Given the description of an element on the screen output the (x, y) to click on. 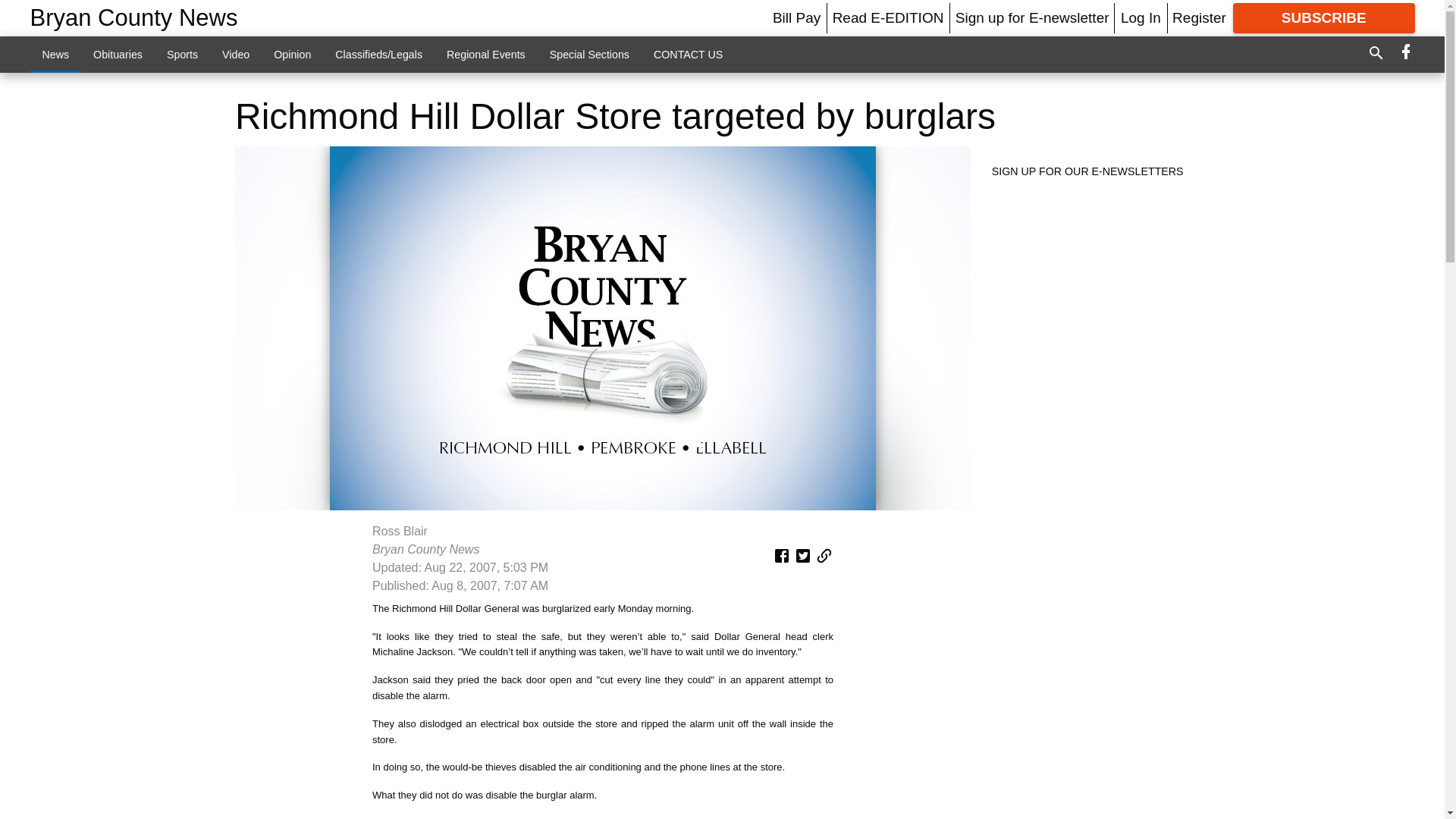
Log In (1140, 17)
Special Sections (589, 54)
Signup Widget Embed (1095, 305)
CONTACT US (688, 54)
Opinion (292, 54)
Register (1198, 17)
News (55, 54)
Sign up for E-newsletter (1032, 17)
Obituaries (117, 54)
Sports (181, 54)
Bryan County News (134, 17)
Bill Pay (797, 17)
Read E-EDITION (887, 17)
Regional Events (485, 54)
SUBSCRIBE (1324, 18)
